Given the description of an element on the screen output the (x, y) to click on. 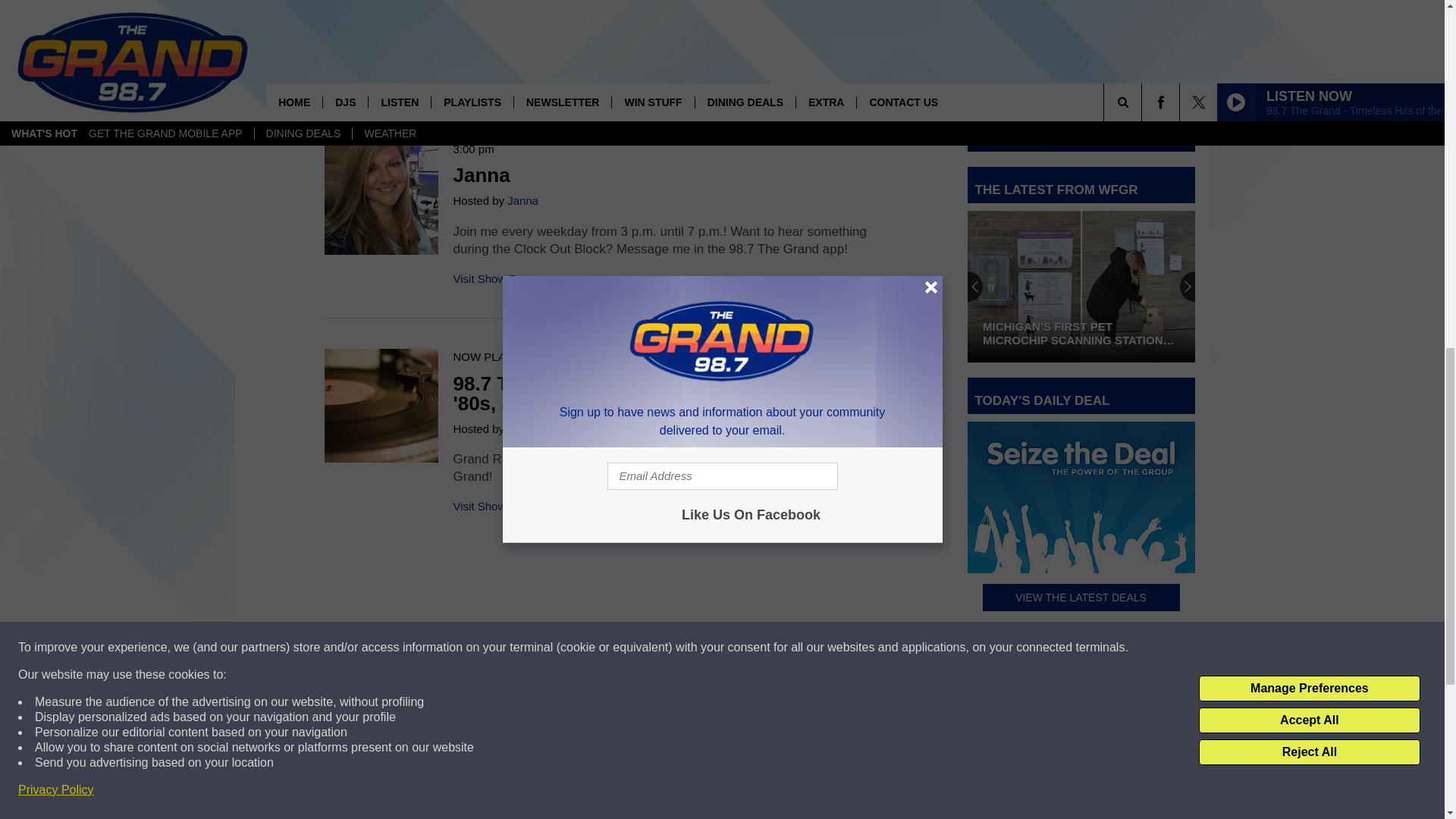
Email Address (1080, 122)
